Given the description of an element on the screen output the (x, y) to click on. 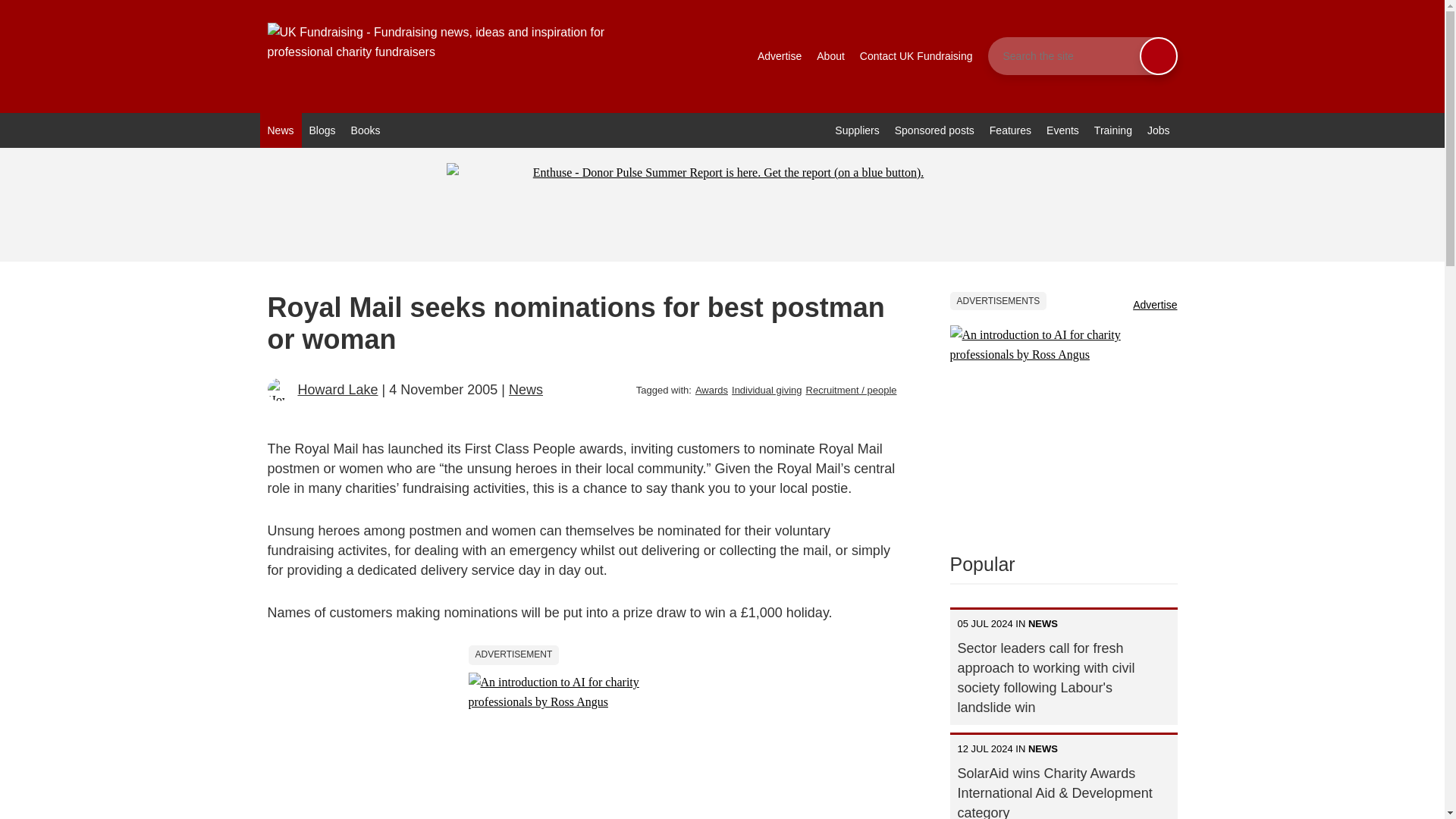
Training (1113, 130)
Jobs (1158, 130)
Awards (711, 389)
About (830, 55)
Individual giving (767, 389)
Books (365, 130)
Howard Lake (337, 389)
View posts in News (525, 389)
Goto UK Fundraising homepage (456, 56)
Blogs (322, 130)
Advertise (779, 55)
Events (1062, 130)
Features (1010, 130)
Suppliers (856, 130)
News (525, 389)
